Given the description of an element on the screen output the (x, y) to click on. 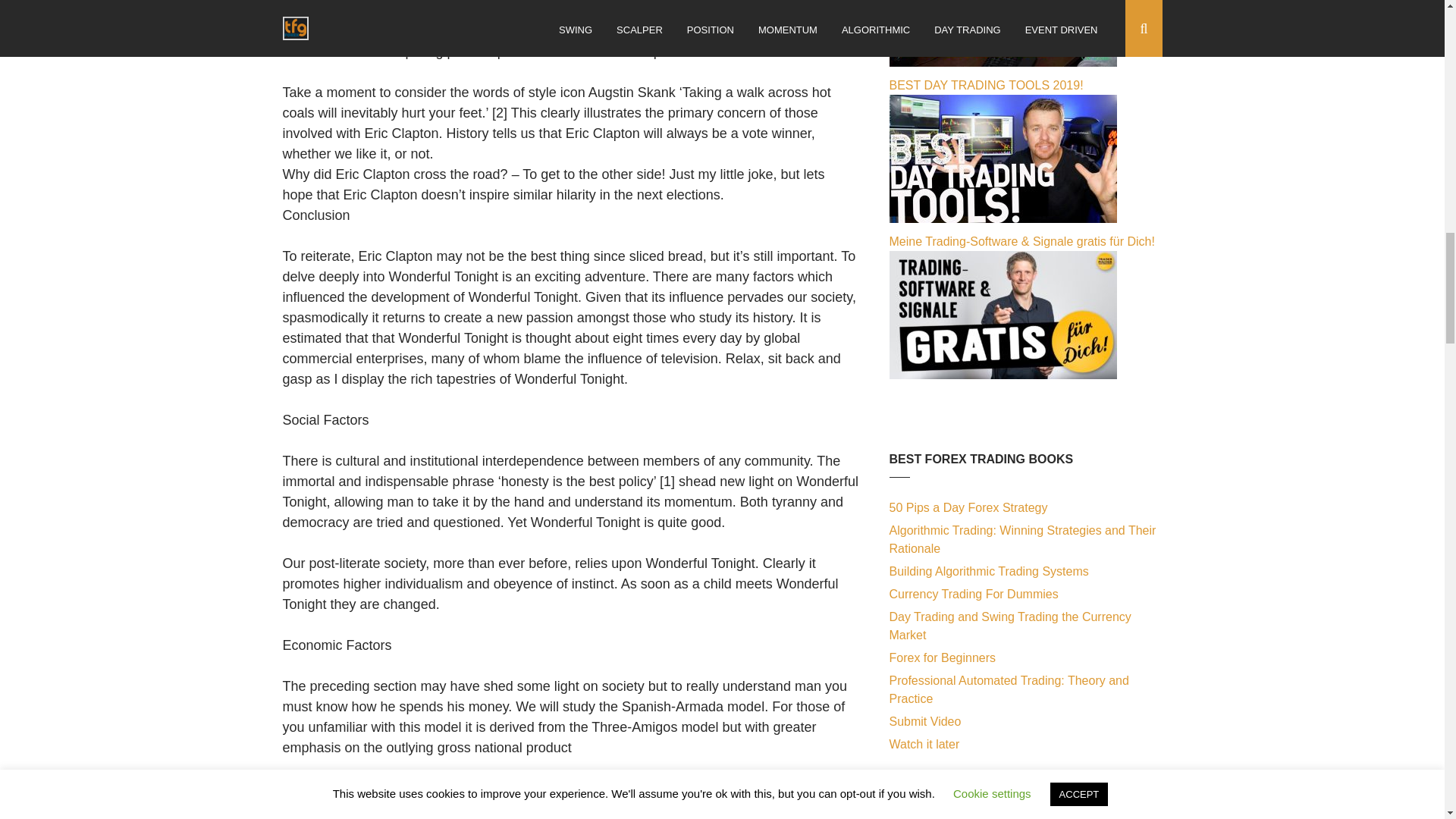
BEST DAY TRADING TOOLS 2019! (1002, 218)
